Given the description of an element on the screen output the (x, y) to click on. 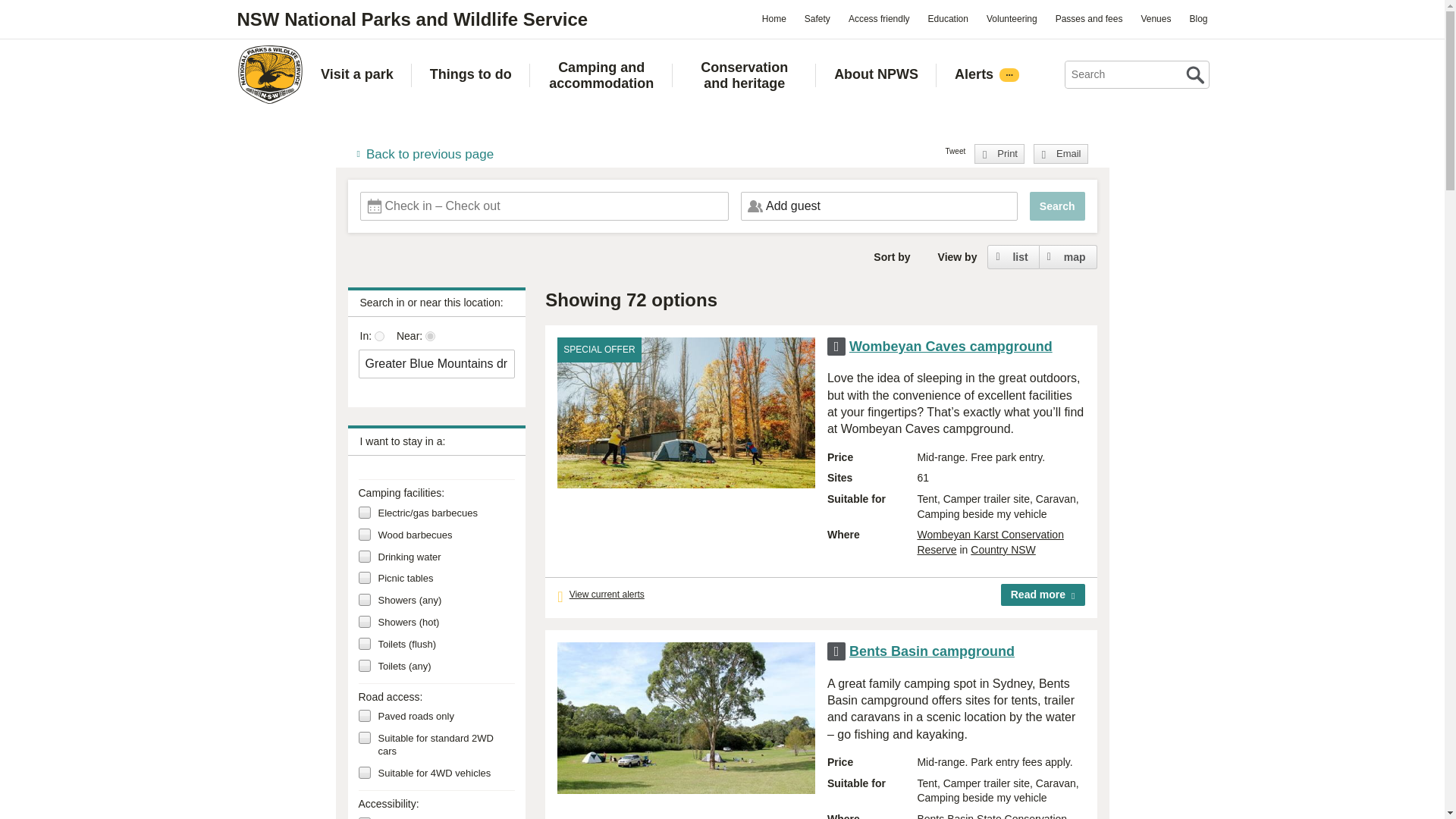
Education (947, 18)
Around (430, 336)
Visit a park (356, 73)
Volunteering (1011, 18)
About NPWS (876, 73)
Blog (1197, 18)
Camping and accommodation (600, 74)
Home (773, 18)
In (379, 336)
